Given the description of an element on the screen output the (x, y) to click on. 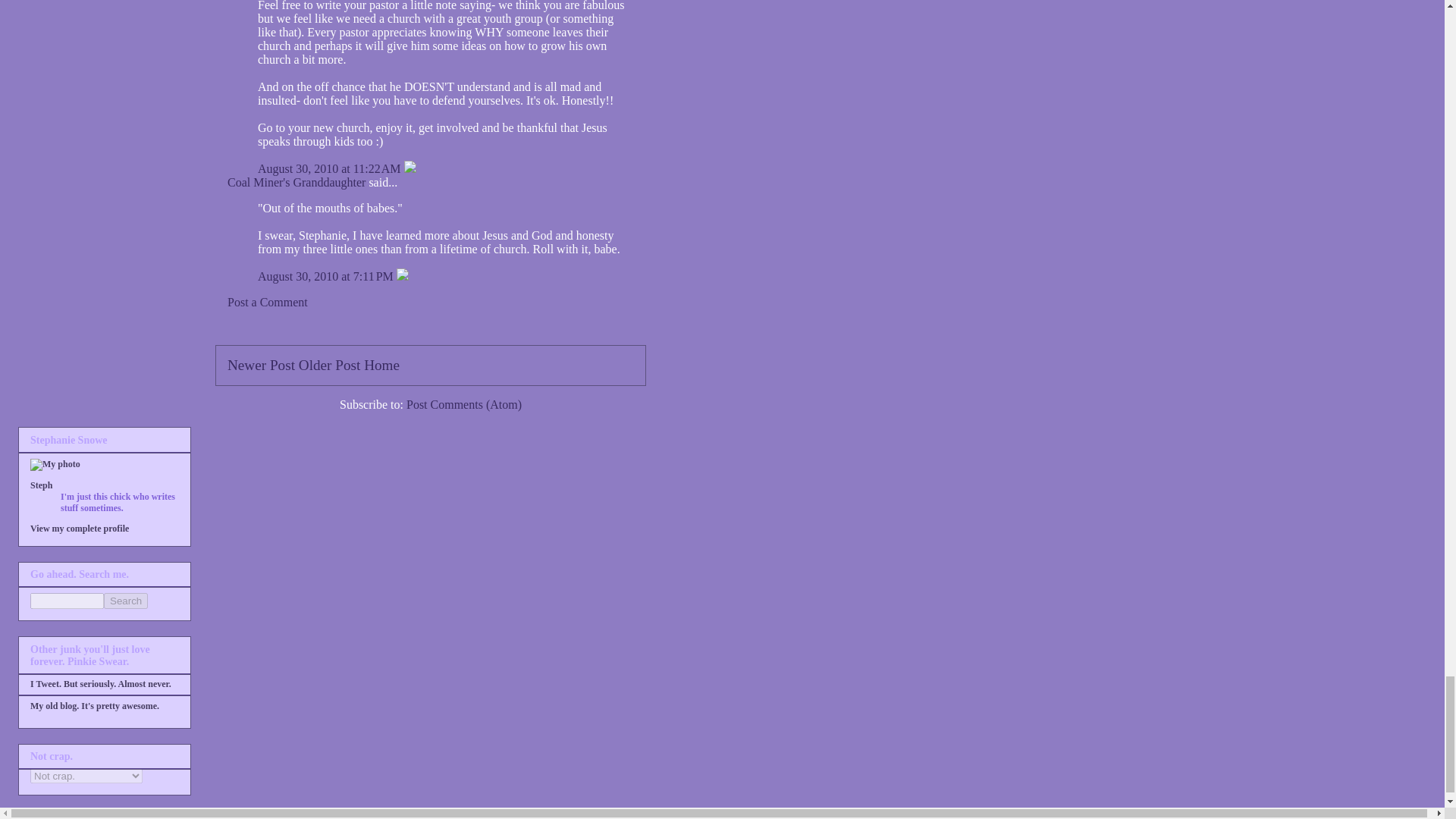
Search (125, 600)
Search (125, 600)
